Given the description of an element on the screen output the (x, y) to click on. 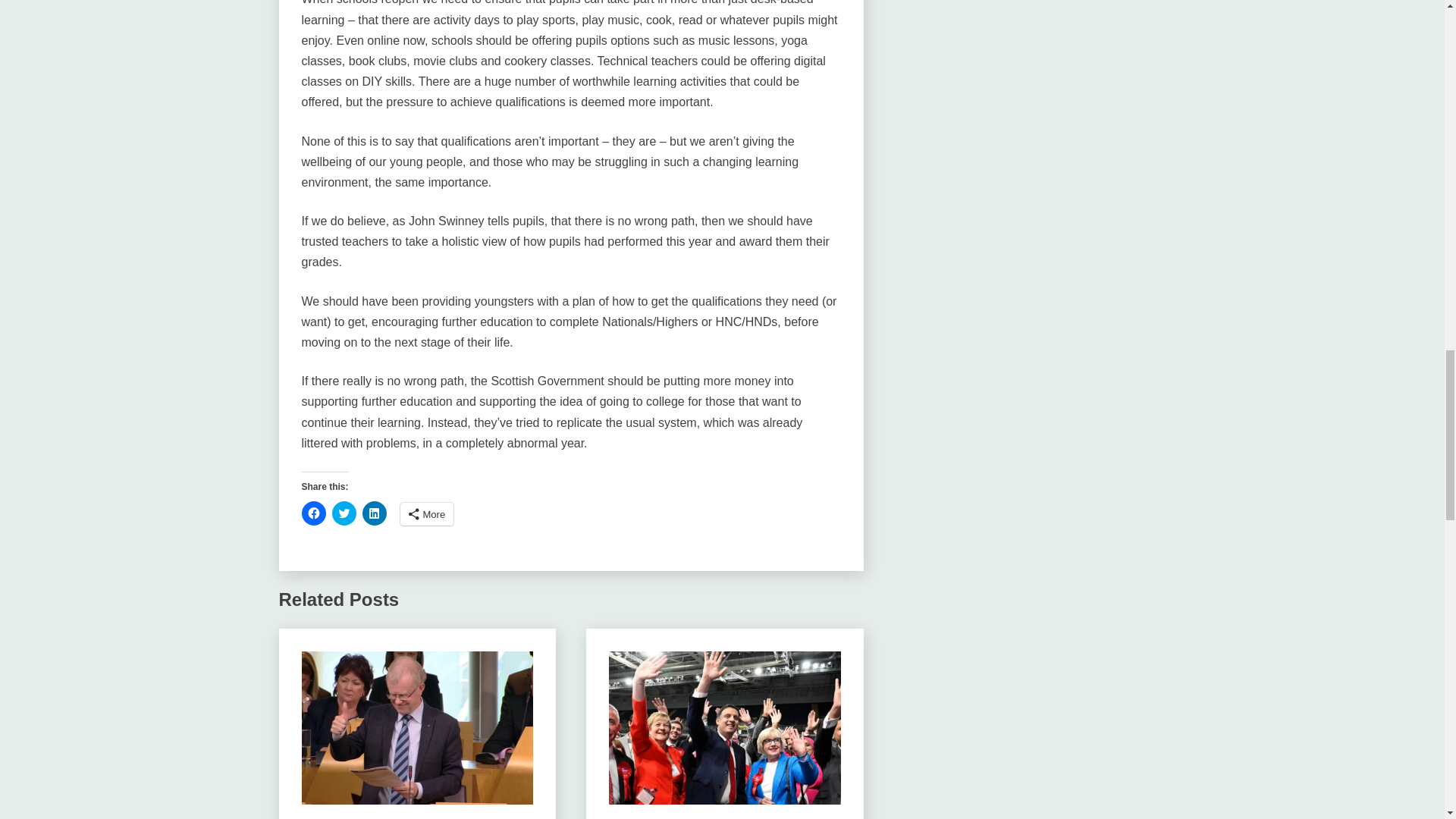
Click to share on LinkedIn (374, 513)
Click to share on Twitter (343, 513)
More (427, 513)
Click to share on Facebook (313, 513)
